Given the description of an element on the screen output the (x, y) to click on. 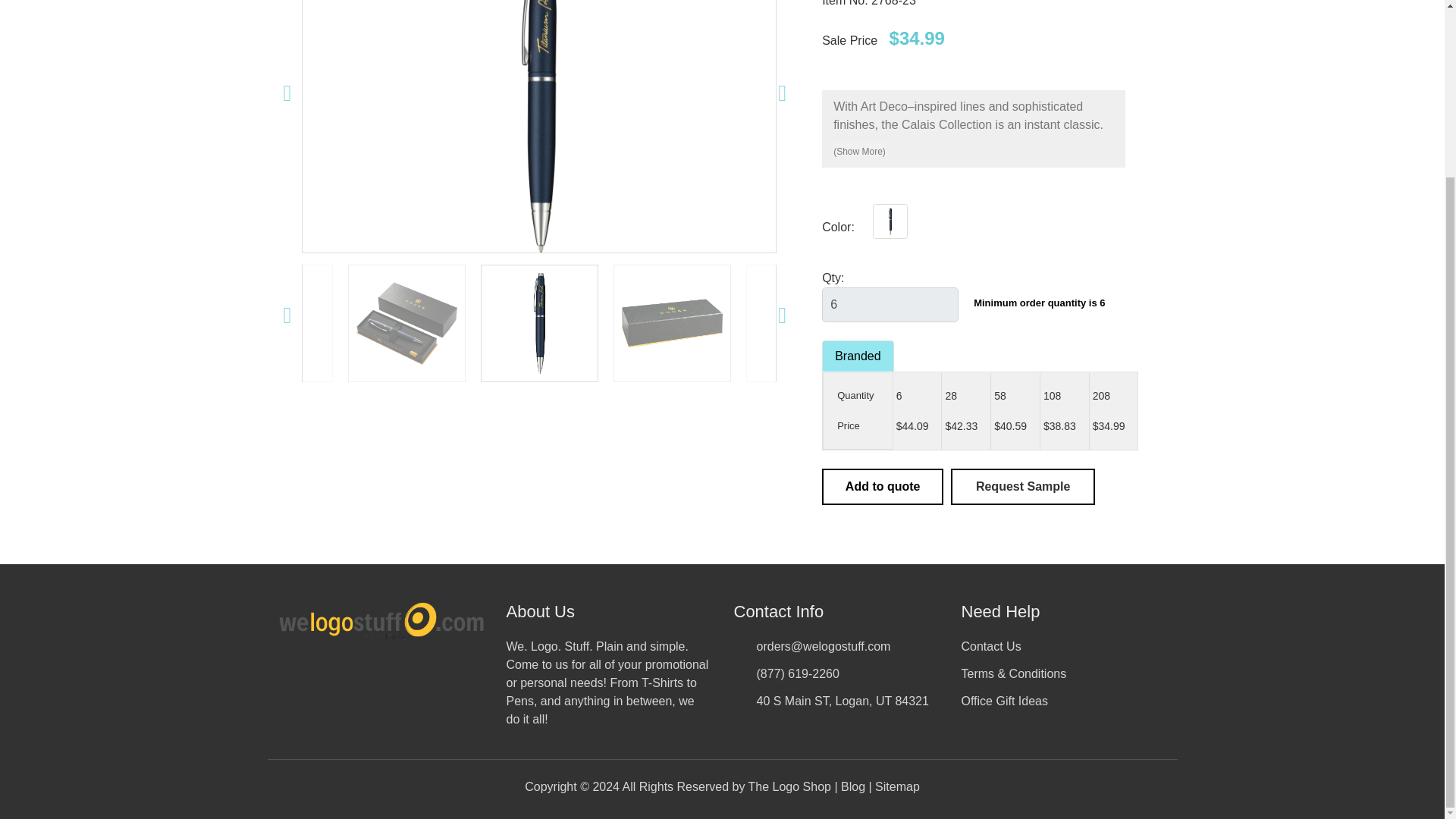
6 (890, 304)
